Given the description of an element on the screen output the (x, y) to click on. 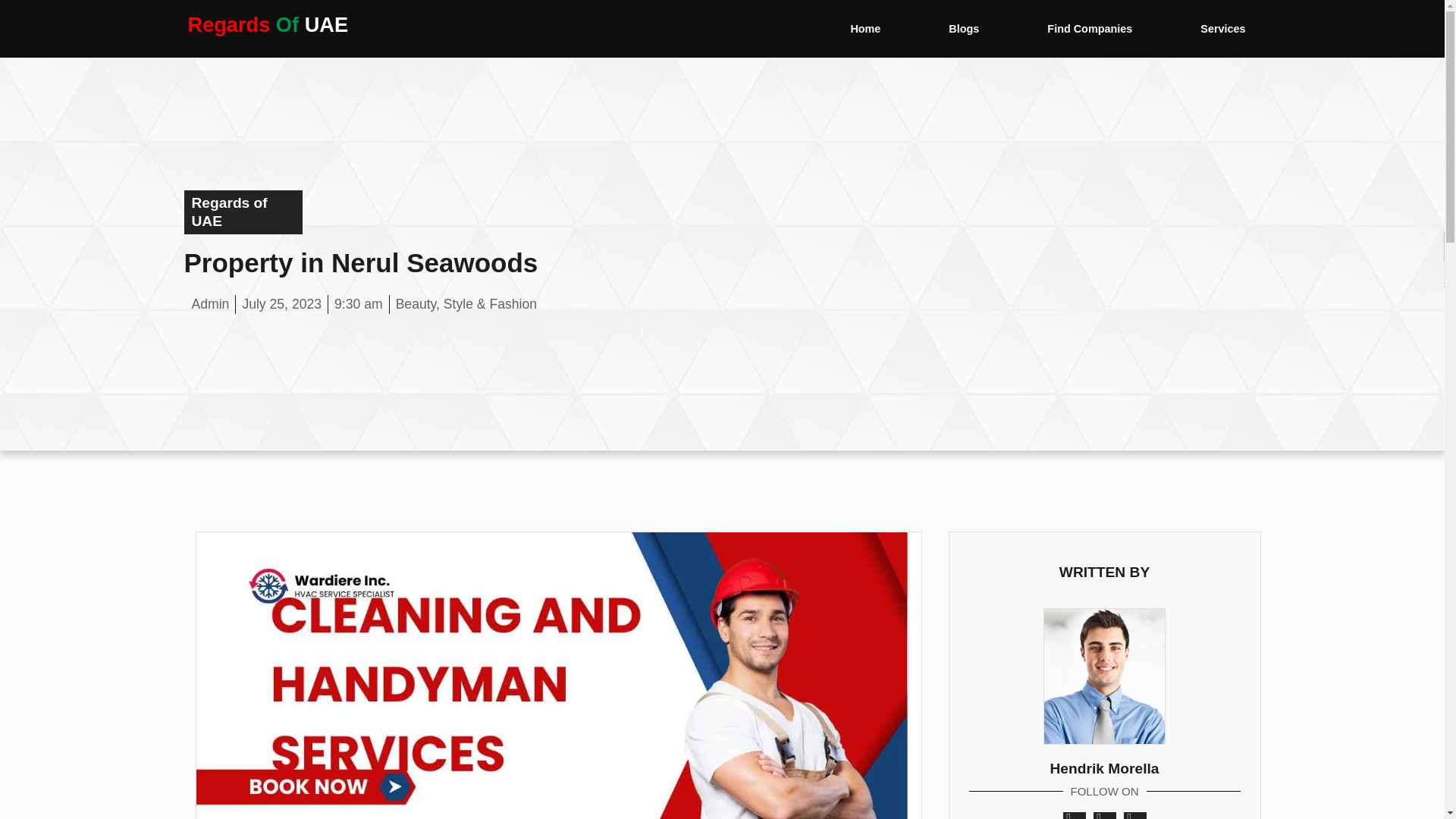
Home (864, 28)
Services (1222, 28)
Blogs (963, 28)
Find Companies (1089, 28)
